Given the description of an element on the screen output the (x, y) to click on. 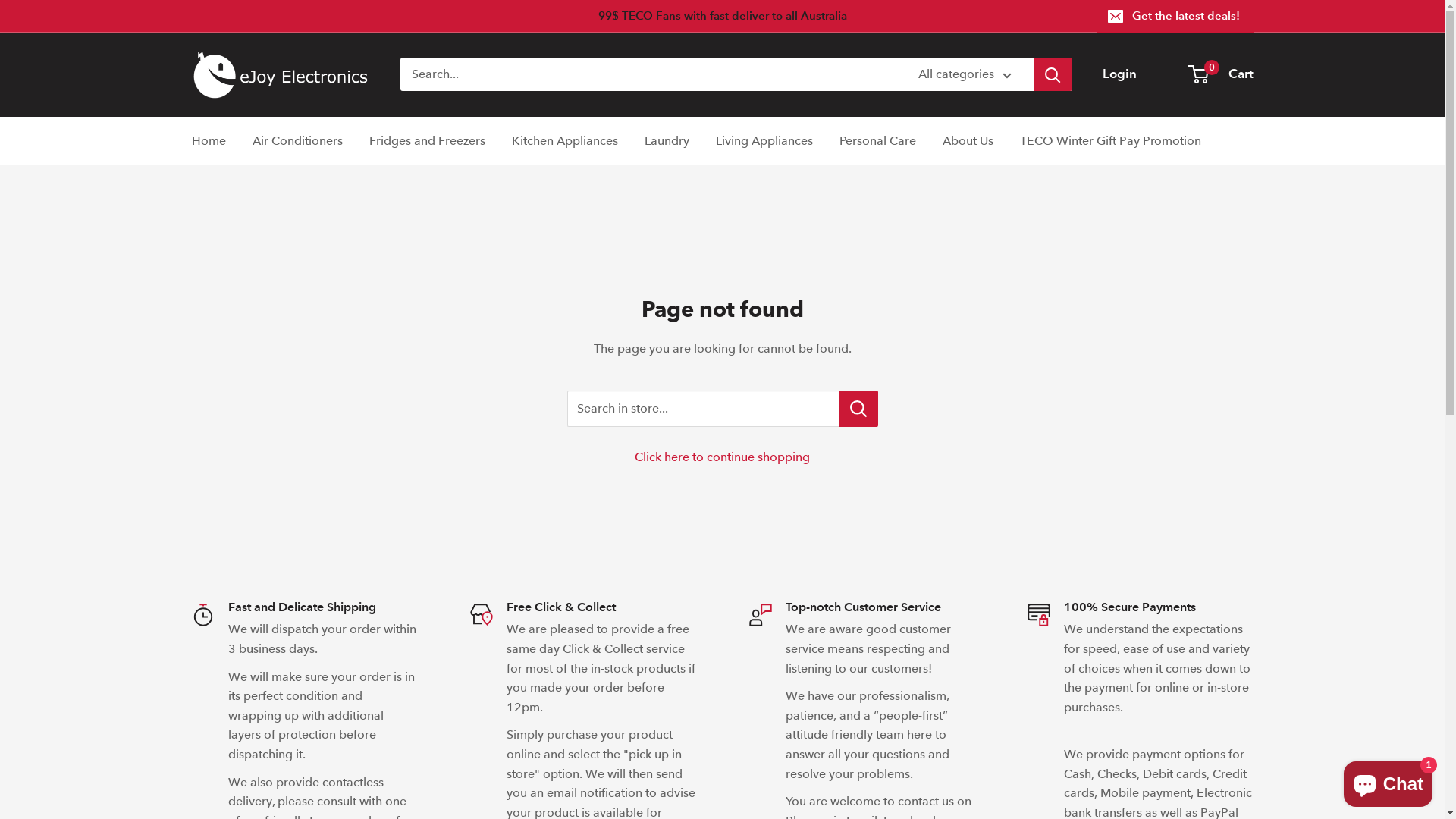
Fridges and Freezers Element type: text (426, 140)
Shopify online store chat Element type: hover (1388, 780)
About Us Element type: text (966, 140)
EJOY Australia Element type: text (280, 74)
Kitchen Appliances Element type: text (564, 140)
99$ TECO Fans with fast deliver to all Australia Element type: text (644, 15)
Login Element type: text (1119, 74)
Laundry Element type: text (666, 140)
Living Appliances Element type: text (763, 140)
Get the latest deals! Element type: text (1174, 15)
Click here to continue shopping Element type: text (721, 456)
TECO Winter Gift Pay Promotion Element type: text (1109, 140)
Personal Care Element type: text (876, 140)
Air Conditioners Element type: text (296, 140)
Home Element type: text (208, 140)
0
Cart Element type: text (1220, 74)
